Given the description of an element on the screen output the (x, y) to click on. 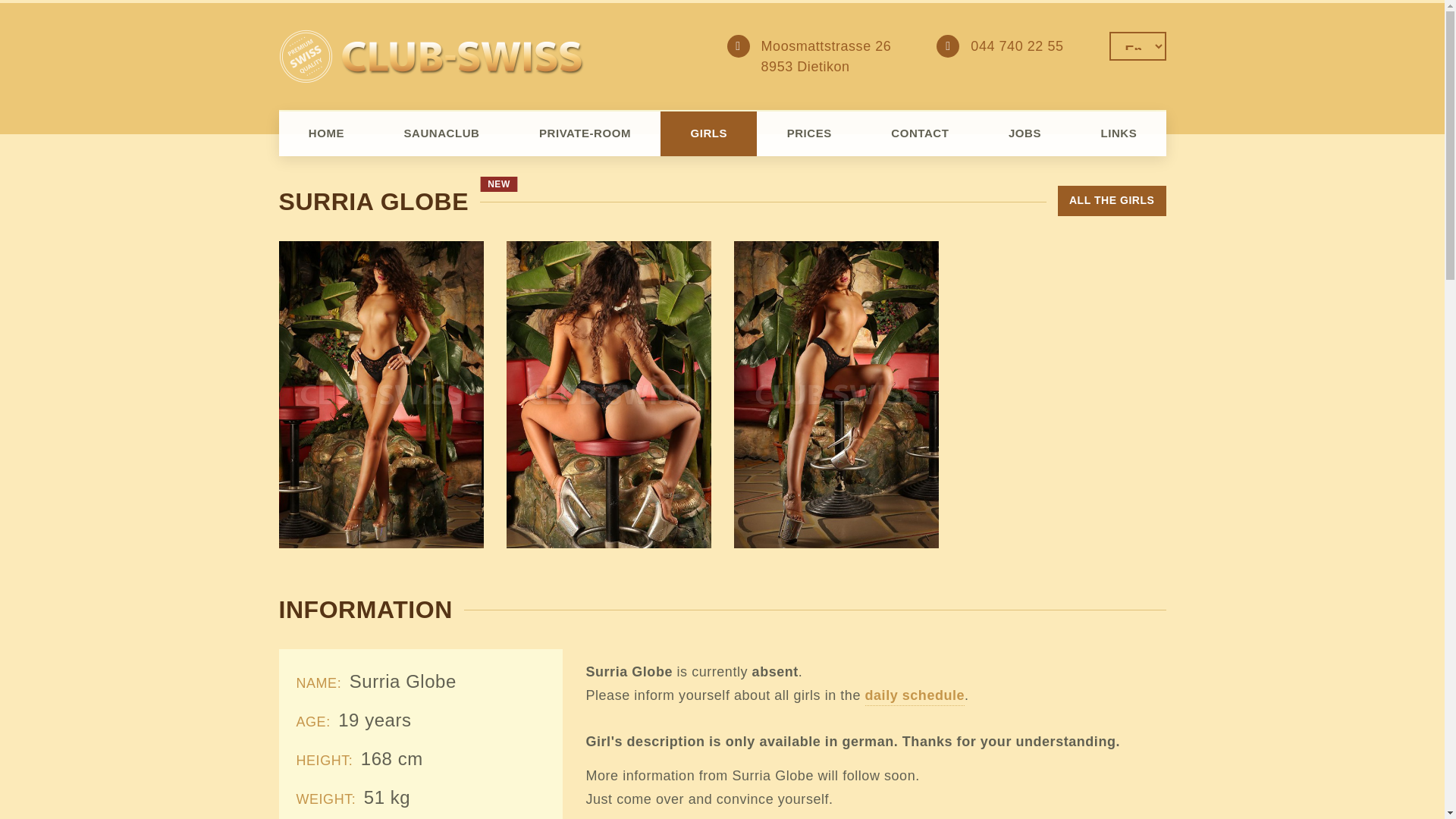
Surria Globe Element type: hover (608, 394)
CONTACT Element type: text (920, 133)
JOBS Element type: text (1025, 133)
HOME Element type: text (326, 133)
ALL THE GIRLS Element type: text (1111, 200)
LINKS Element type: text (1118, 133)
daily schedule Element type: text (914, 696)
GIRLS Element type: text (708, 133)
Surria Globe Element type: hover (836, 394)
PRIVATE-ROOM Element type: text (585, 133)
SAUNACLUB Element type: text (440, 133)
Surria Globe Element type: hover (381, 394)
PRICES Element type: text (808, 133)
